Given the description of an element on the screen output the (x, y) to click on. 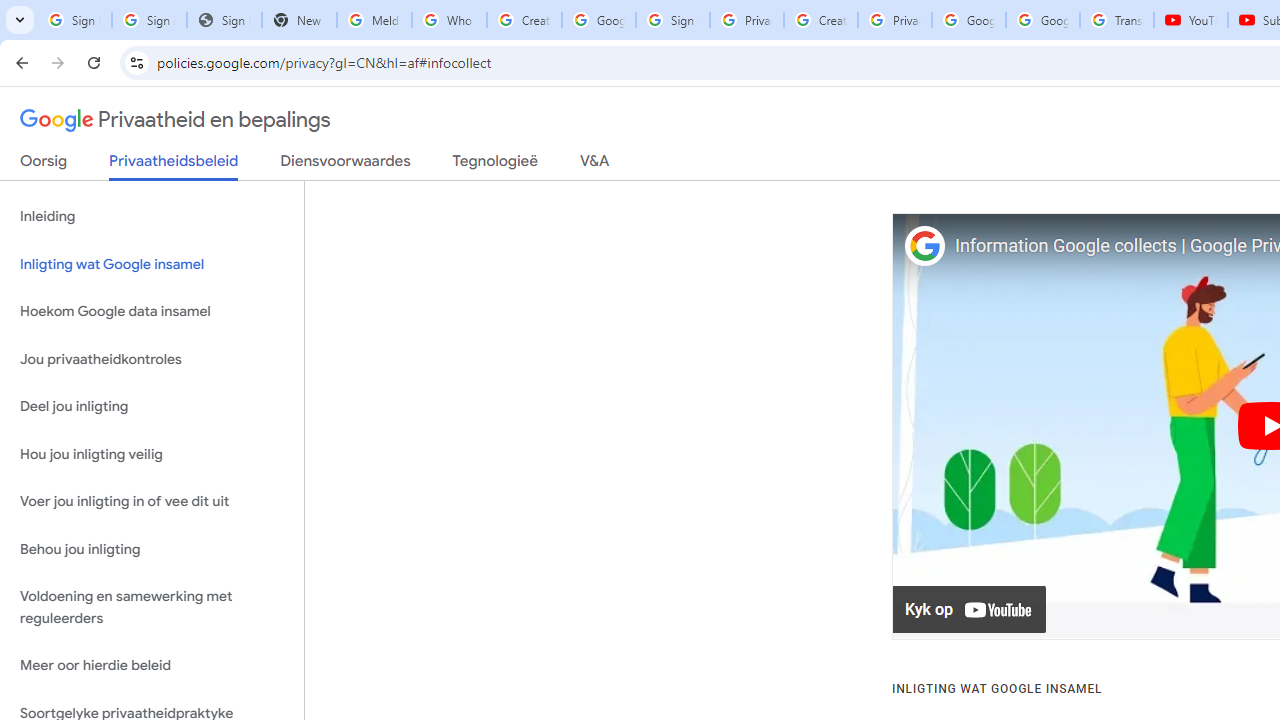
Behou jou inligting (152, 548)
Deel jou inligting (152, 407)
Hou jou inligting veilig (152, 453)
Inleiding (152, 216)
New Tab (299, 20)
Create your Google Account (820, 20)
Meer oor hierdie beleid (152, 666)
Voer jou inligting in of vee dit uit (152, 502)
Fotobeeld van Google (924, 246)
